Given the description of an element on the screen output the (x, y) to click on. 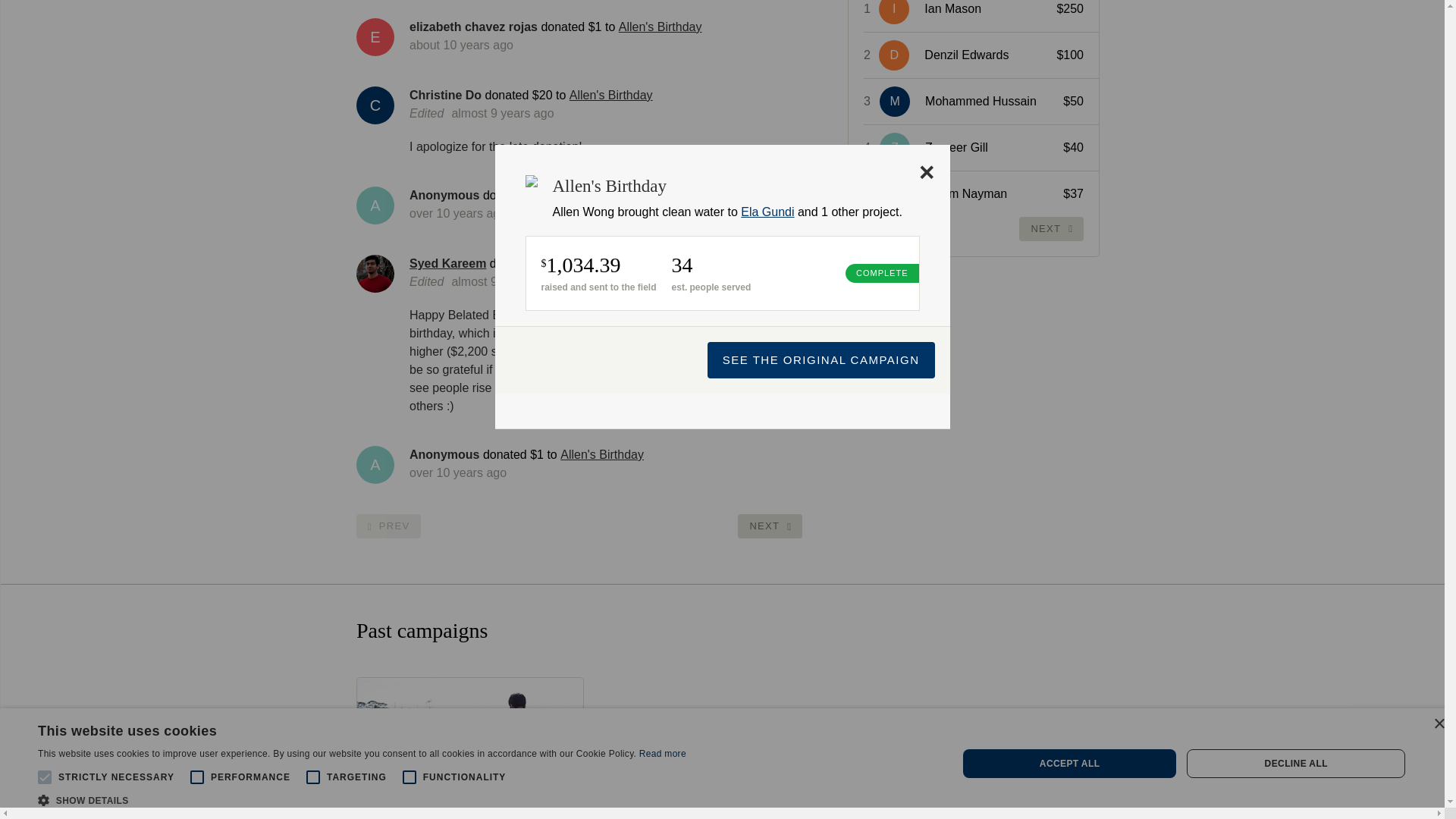
I (898, 12)
